Given the description of an element on the screen output the (x, y) to click on. 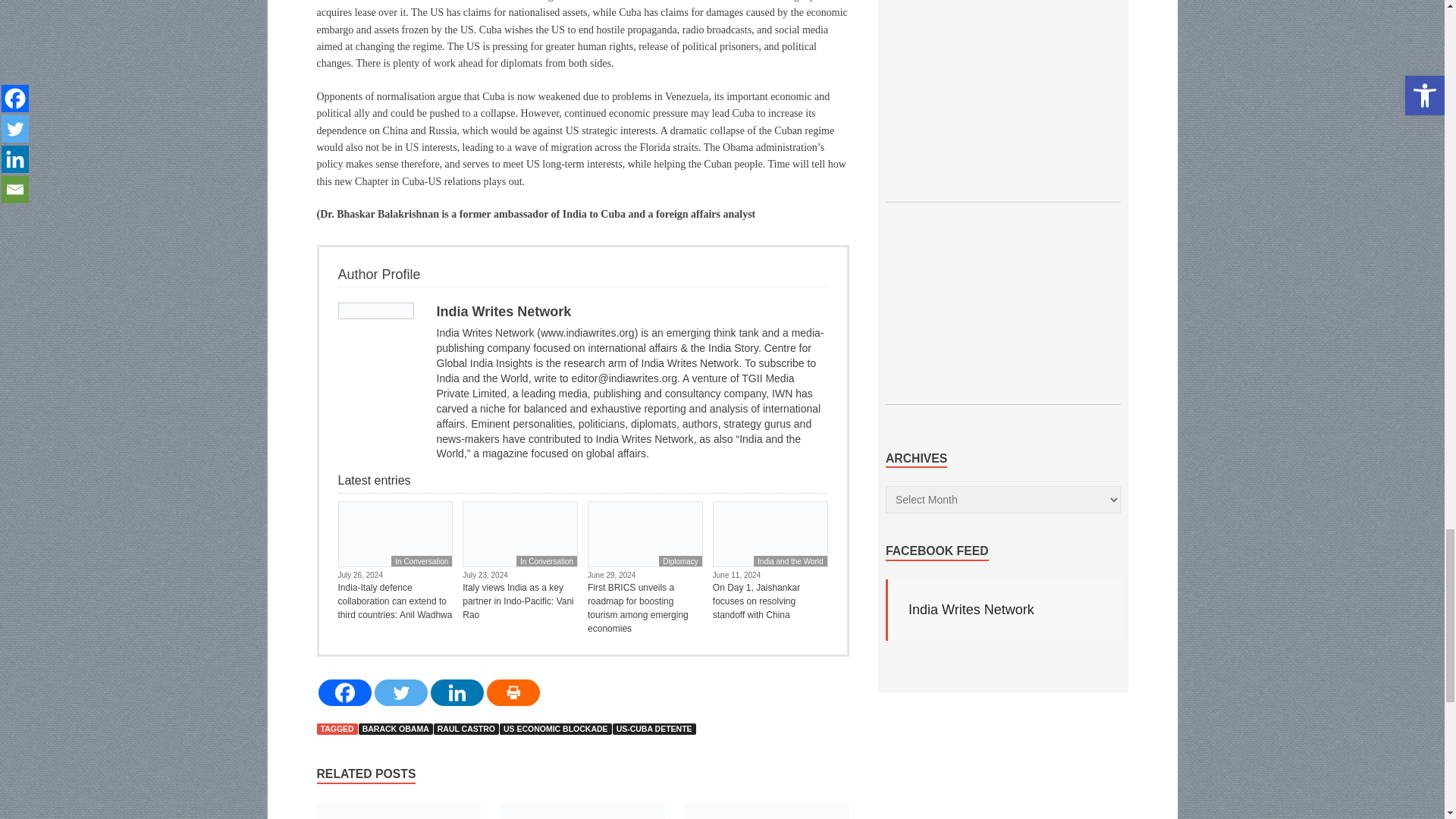
In Conversation (546, 561)
Diplomacy (680, 561)
Facebook (344, 692)
Linkedin (456, 692)
Twitter (401, 692)
Italy views India as a key partner in Indo-Pacific: Vani Rao (520, 600)
Print (513, 692)
In Conversation (421, 561)
India and the World (790, 561)
